Given the description of an element on the screen output the (x, y) to click on. 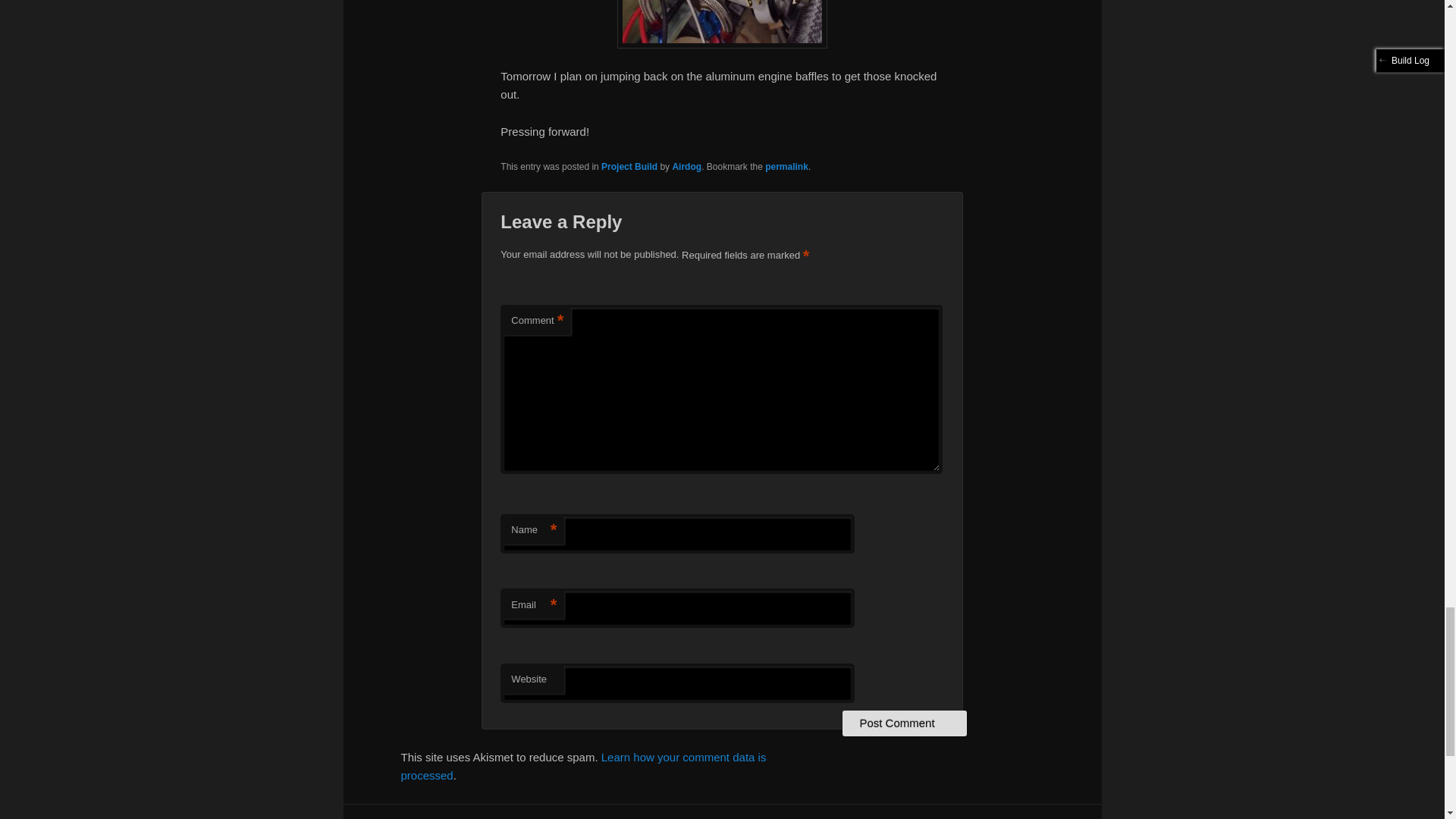
Post Comment (904, 723)
